Given the description of an element on the screen output the (x, y) to click on. 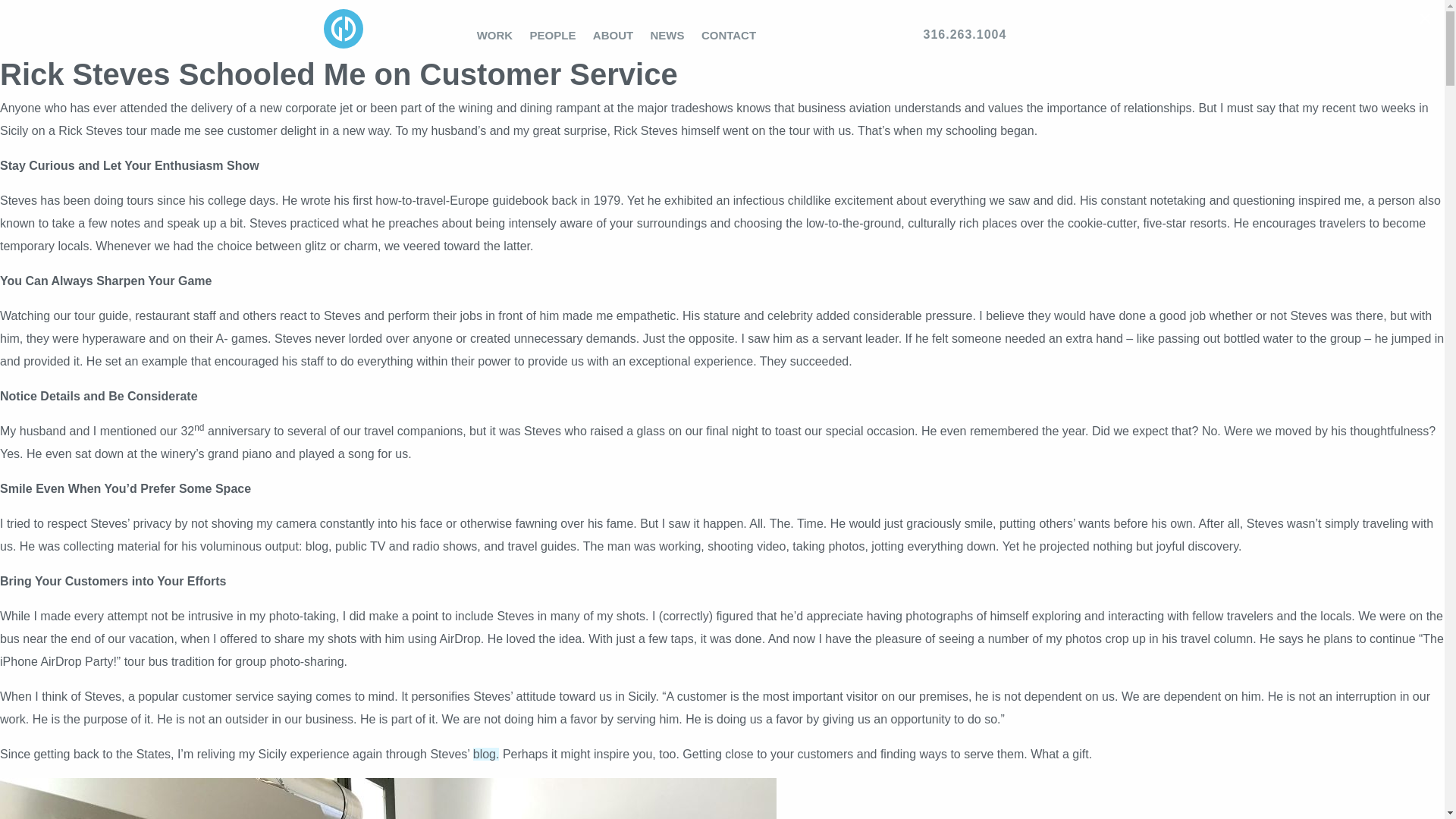
Click to call on mobile (1025, 34)
ABOUT (613, 35)
PEOPLE (552, 35)
Greteman Group Home Page (343, 48)
WORK (494, 35)
